Given the description of an element on the screen output the (x, y) to click on. 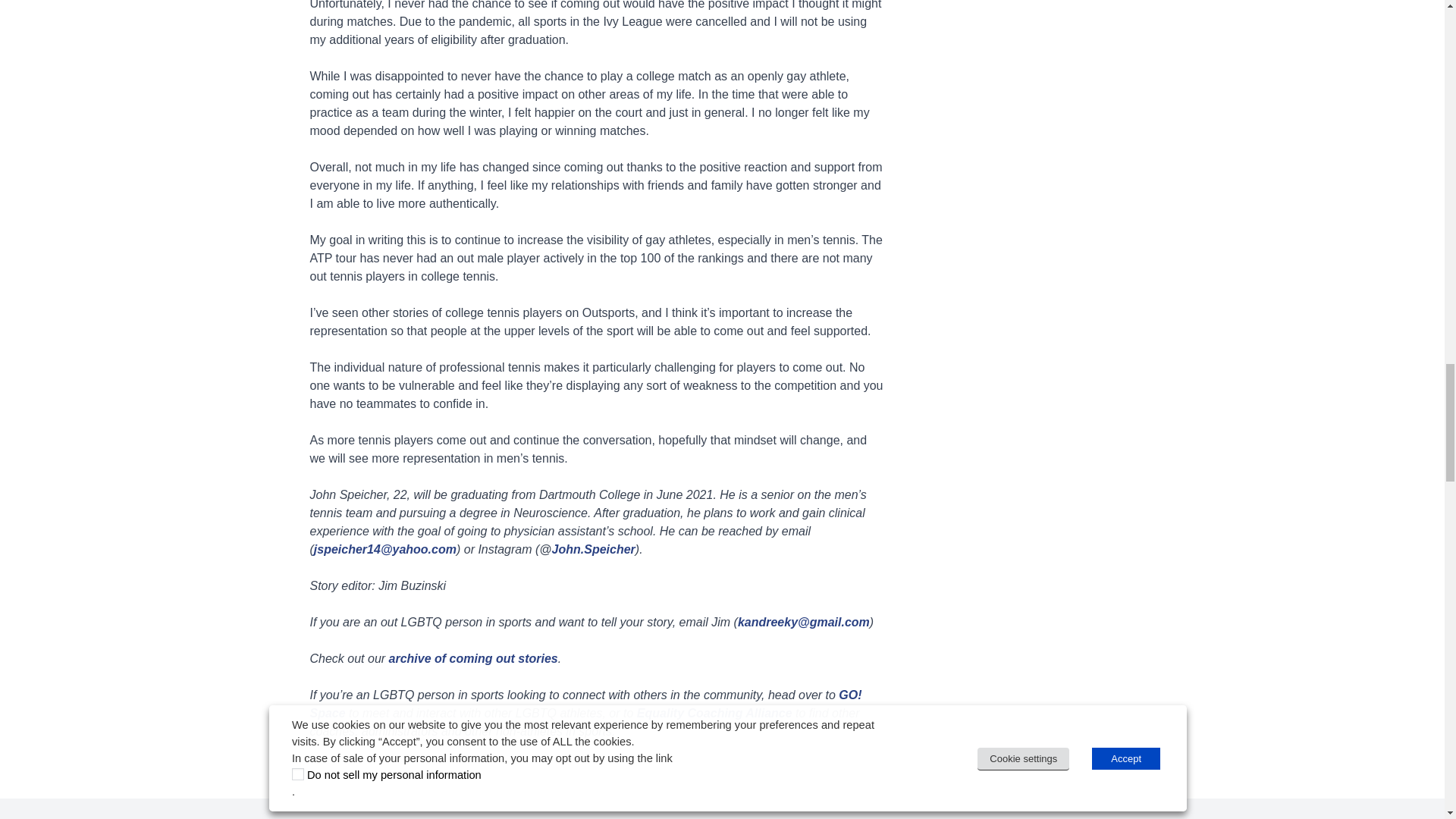
Equality Coaching Alliance (714, 712)
John.Speicher (592, 549)
archive of coming out stories (472, 658)
GO! Space (584, 703)
